Given the description of an element on the screen output the (x, y) to click on. 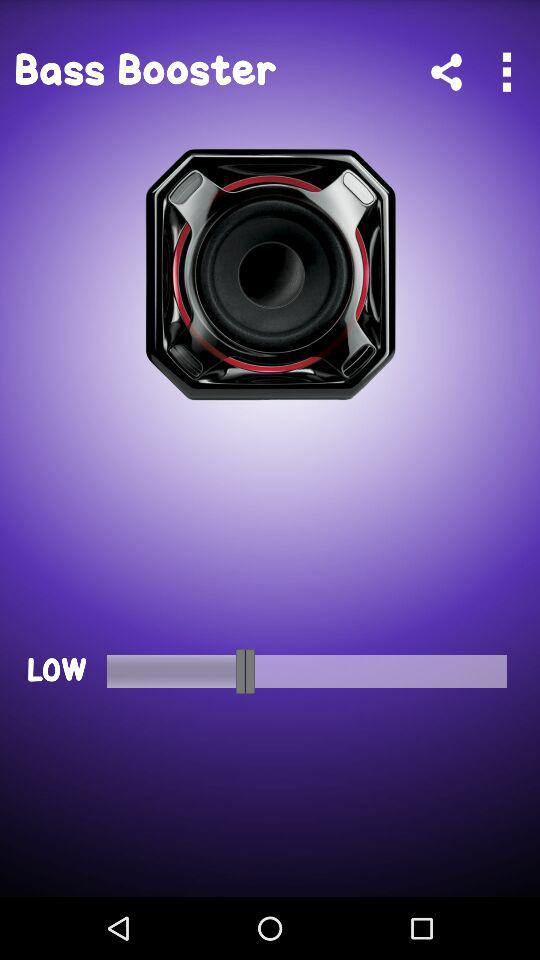
show more app options here (506, 72)
